Given the description of an element on the screen output the (x, y) to click on. 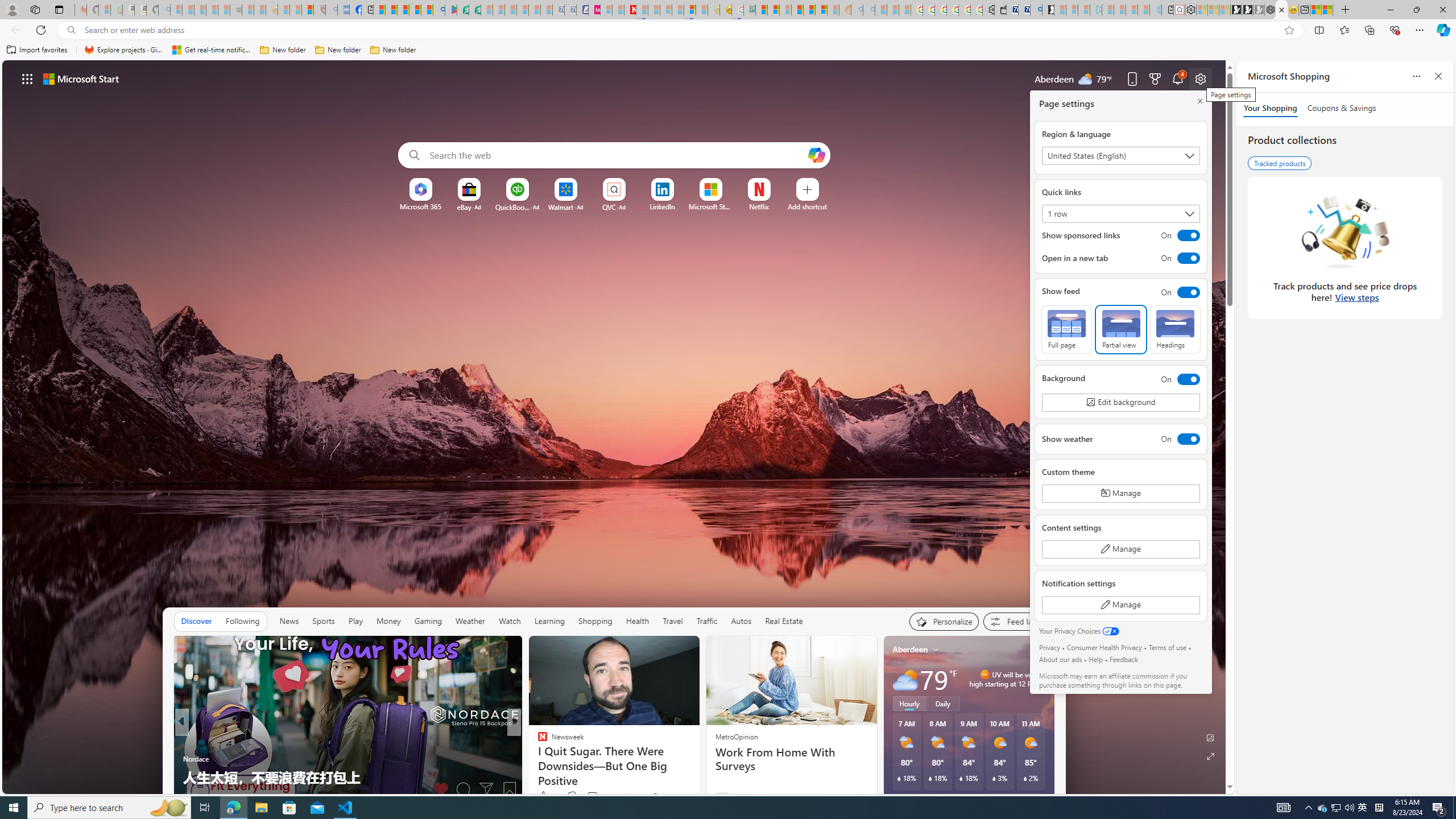
I Lost 30 Pounds While Eating These Popular Foods (697, 777)
View comments 18 Comment (597, 796)
Autos (740, 621)
View comments 48 Comment (597, 796)
Body Network (537, 758)
14 Common Myths Debunked By Scientific Facts - Sleeping (654, 9)
Money (388, 621)
